Given the description of an element on the screen output the (x, y) to click on. 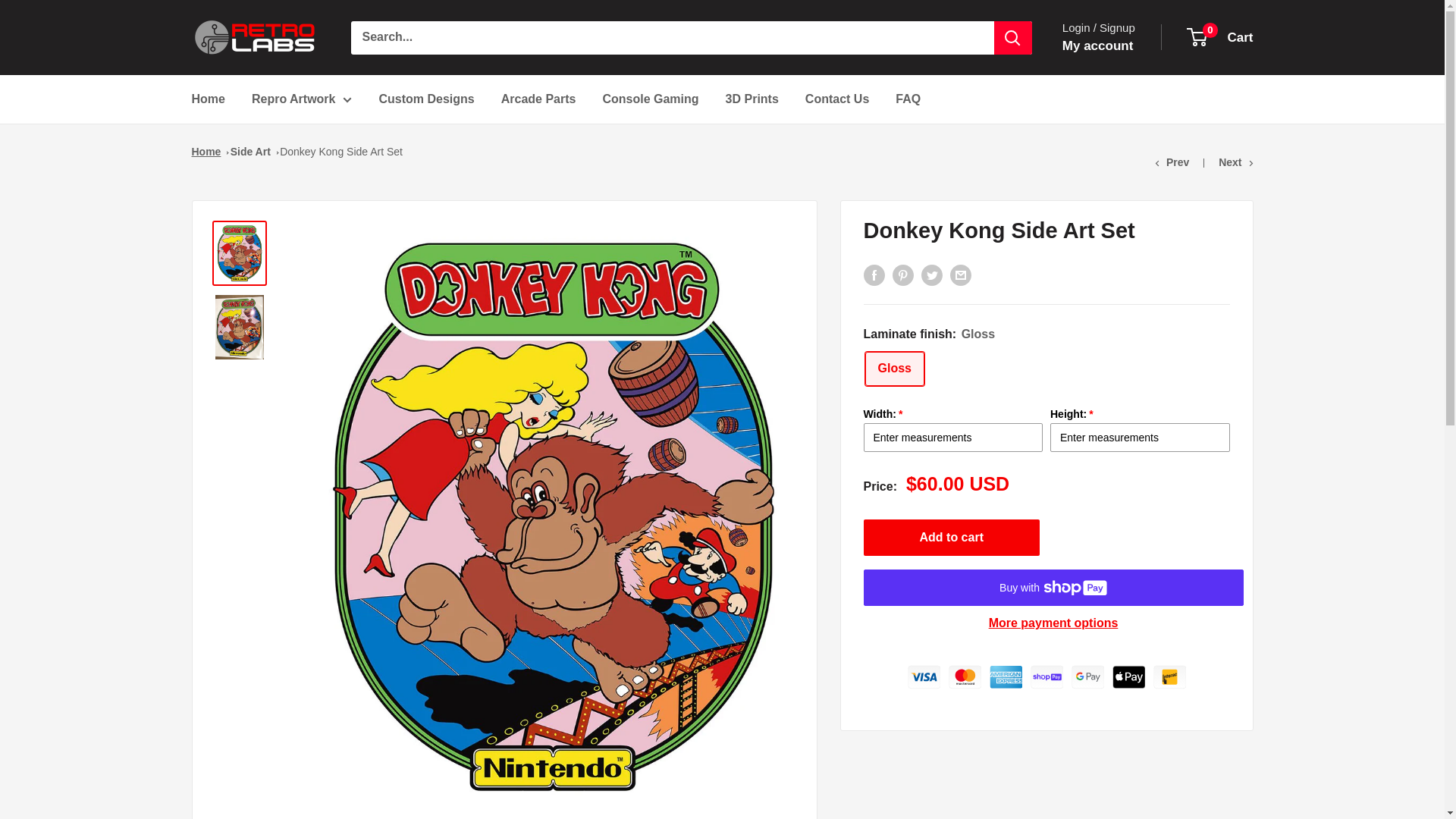
Repro Artwork (1220, 37)
Home (301, 98)
My account (207, 98)
trust-badges-widget (1098, 46)
Retro Labs Inc. (1045, 673)
Gloss (255, 37)
